Given the description of an element on the screen output the (x, y) to click on. 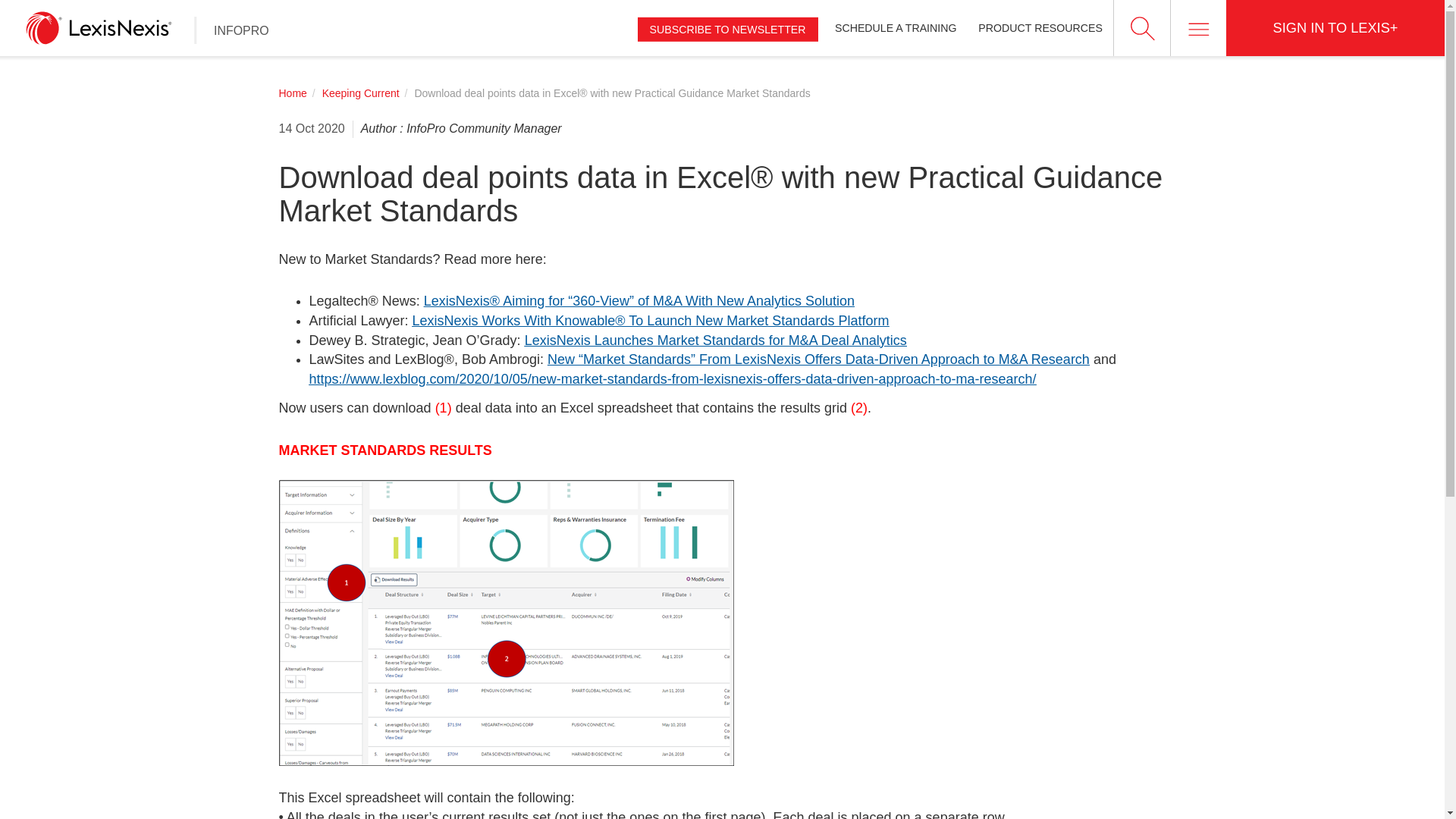
SUBSCRIBE TO NEWSLETTER (727, 29)
PRODUCT RESOURCES (1040, 28)
Keeping Current (359, 92)
SCHEDULE A TRAINING (896, 28)
Menu (1197, 28)
INFOPRO (241, 29)
Home (293, 92)
